Given the description of an element on the screen output the (x, y) to click on. 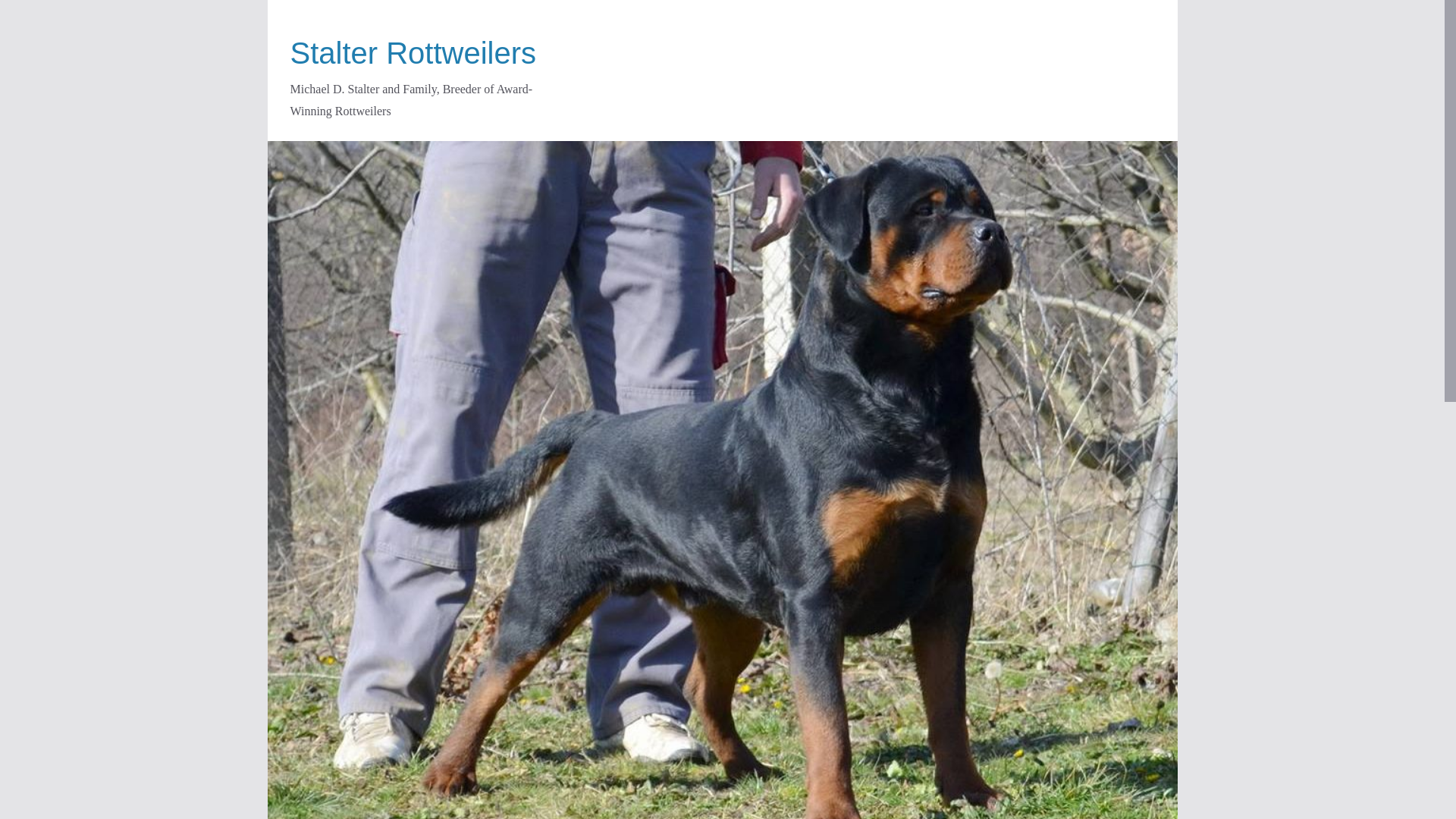
Stalter Rottweilers (412, 52)
Stalter Rottweilers (412, 52)
Stalter Rottweilers (721, 151)
